Given the description of an element on the screen output the (x, y) to click on. 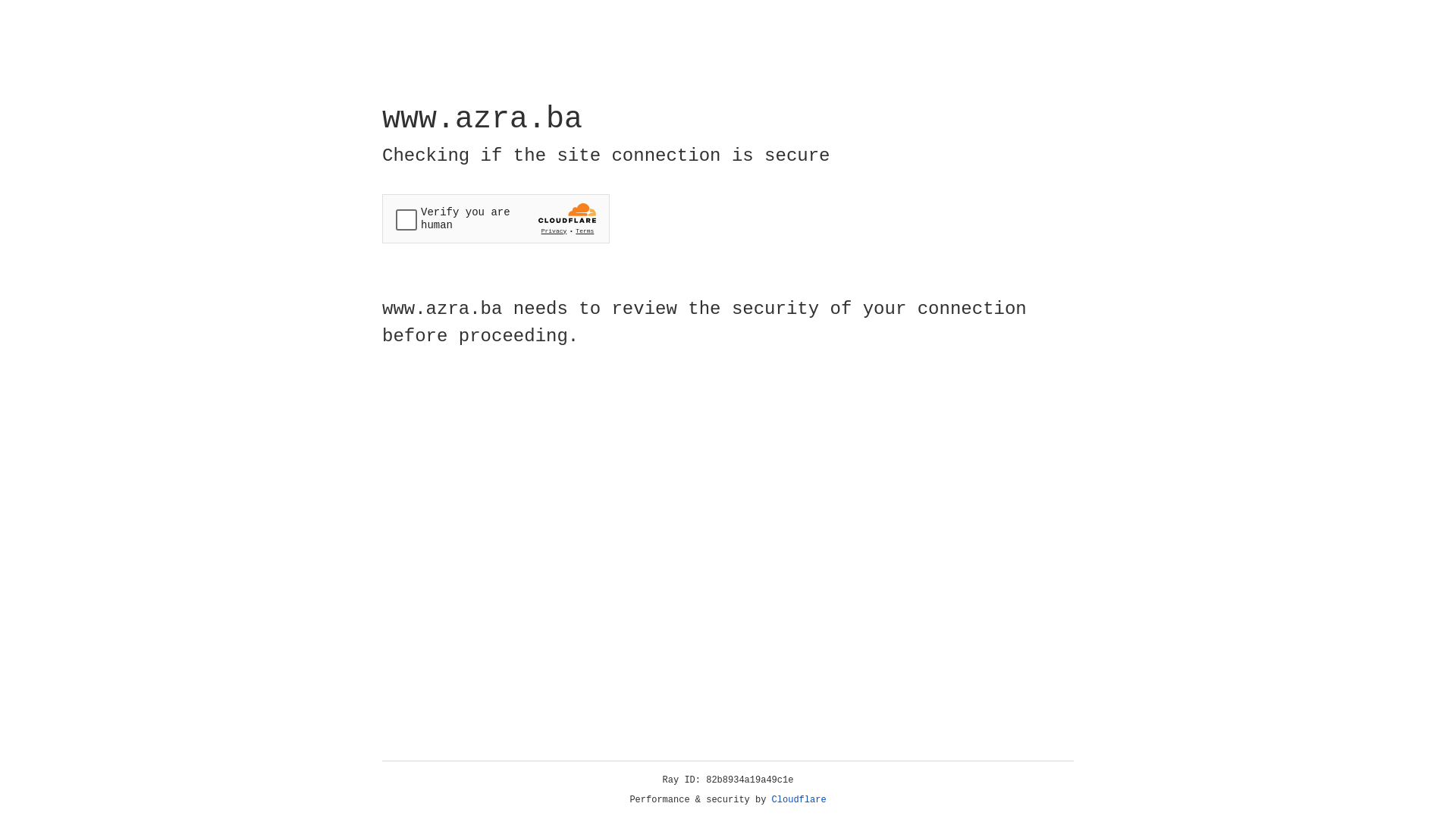
Cloudflare Element type: text (798, 799)
Widget containing a Cloudflare security challenge Element type: hover (495, 218)
